Given the description of an element on the screen output the (x, y) to click on. 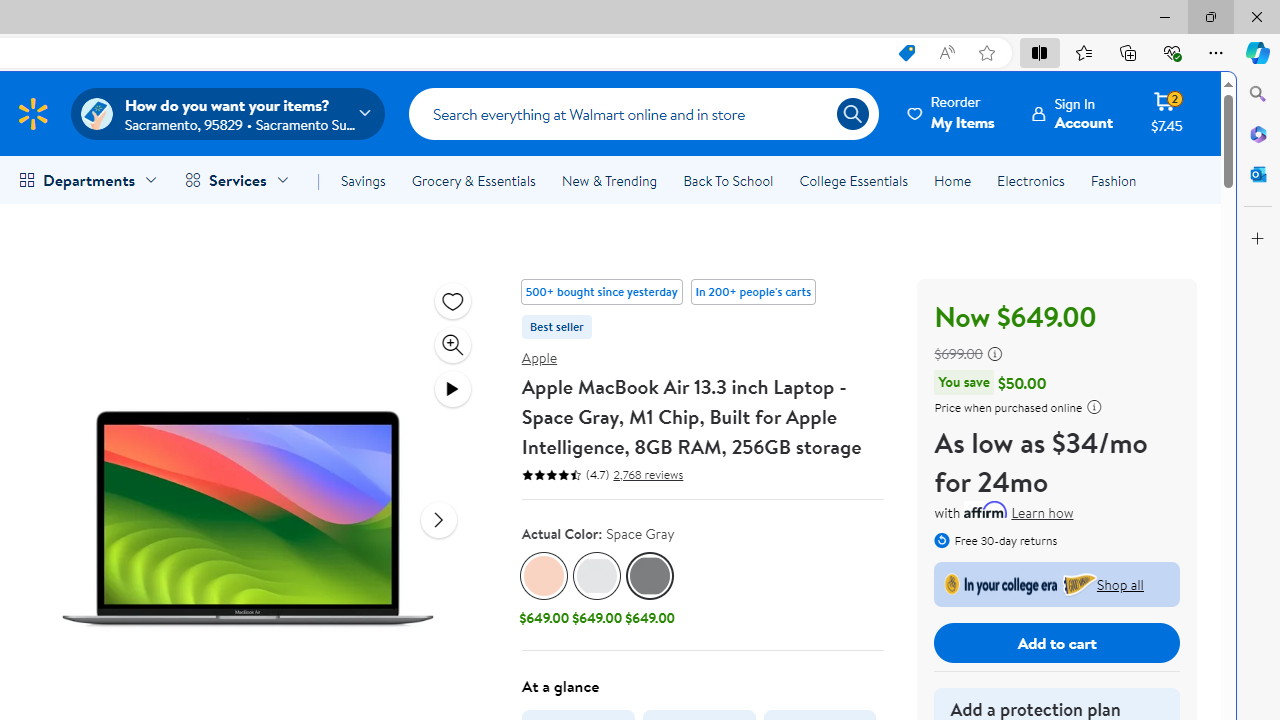
Search icon (852, 113)
This site has coupons! Shopping in Microsoft Edge, 7 (906, 53)
Space Gray (649, 575)
Reorder My Items (952, 113)
Silver (597, 575)
Home (952, 180)
Gold (543, 575)
Savings (363, 180)
Free 30-day returns (996, 538)
